Given the description of an element on the screen output the (x, y) to click on. 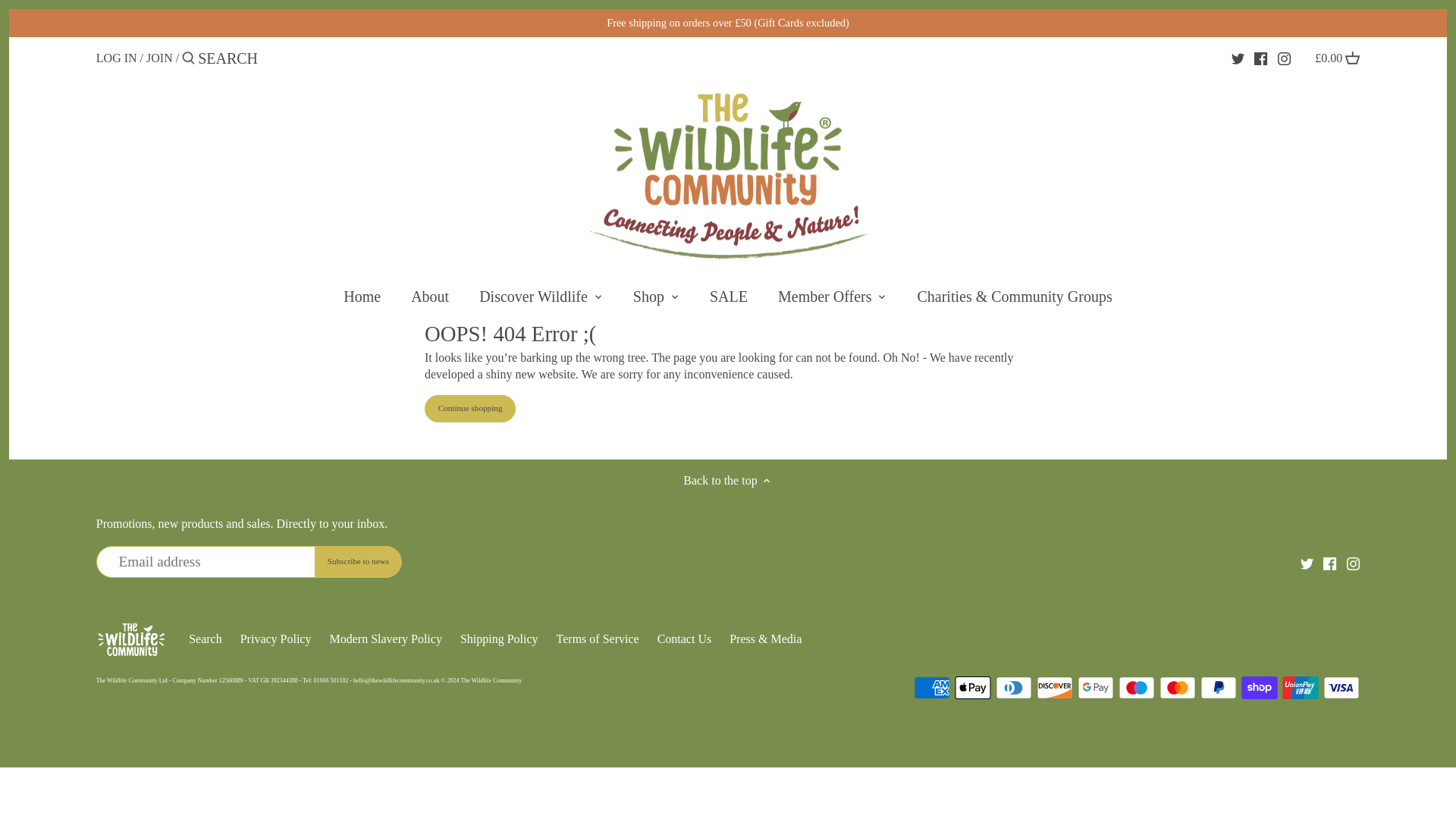
Facebook (1329, 563)
American Express (932, 687)
Discover (1054, 687)
LOG IN (116, 57)
Apple Pay (973, 687)
INSTAGRAM (1284, 58)
Google Pay (1095, 687)
Discover Wildlife (533, 299)
Twitter (1306, 563)
Maestro (1136, 687)
